Given the description of an element on the screen output the (x, y) to click on. 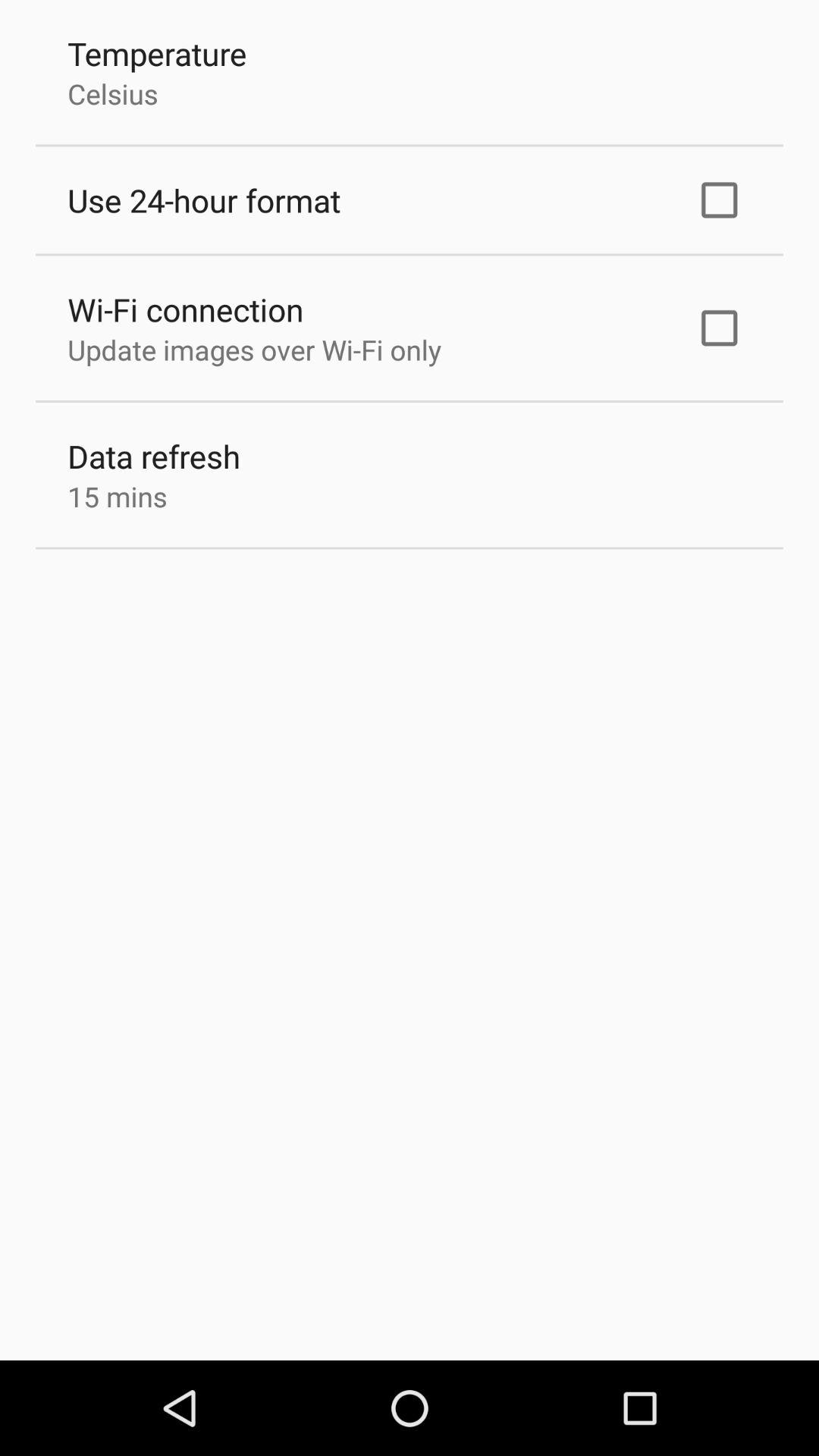
turn off the data refresh (153, 455)
